Given the description of an element on the screen output the (x, y) to click on. 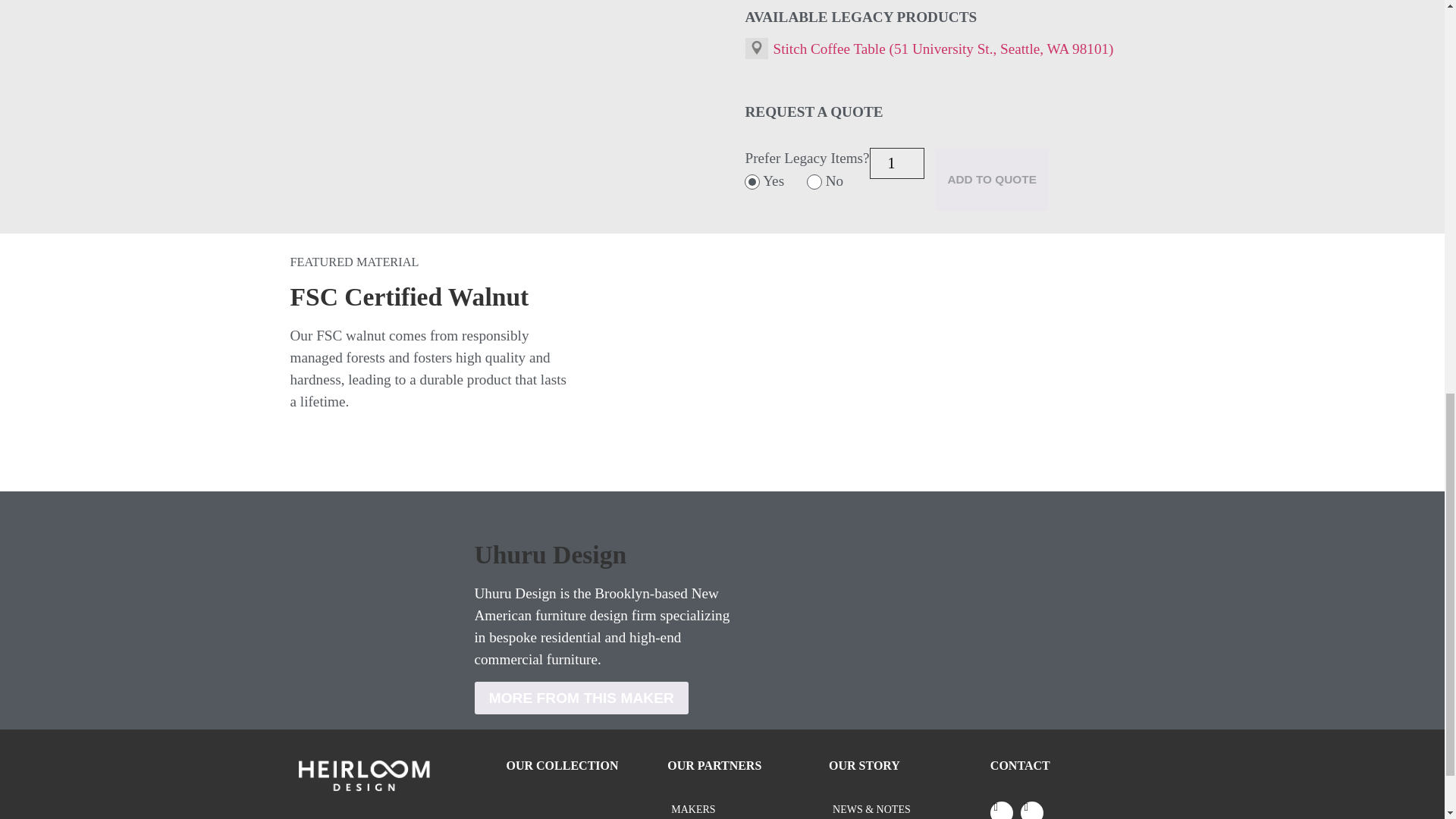
OUR COLLECTION (562, 765)
MORE FROM THIS MAKER (581, 697)
MAKERS (747, 809)
No (814, 181)
1 (896, 163)
Yes (752, 181)
CONTACT (1019, 765)
OUR STORY (863, 765)
ADD TO QUOTE (991, 179)
